Given the description of an element on the screen output the (x, y) to click on. 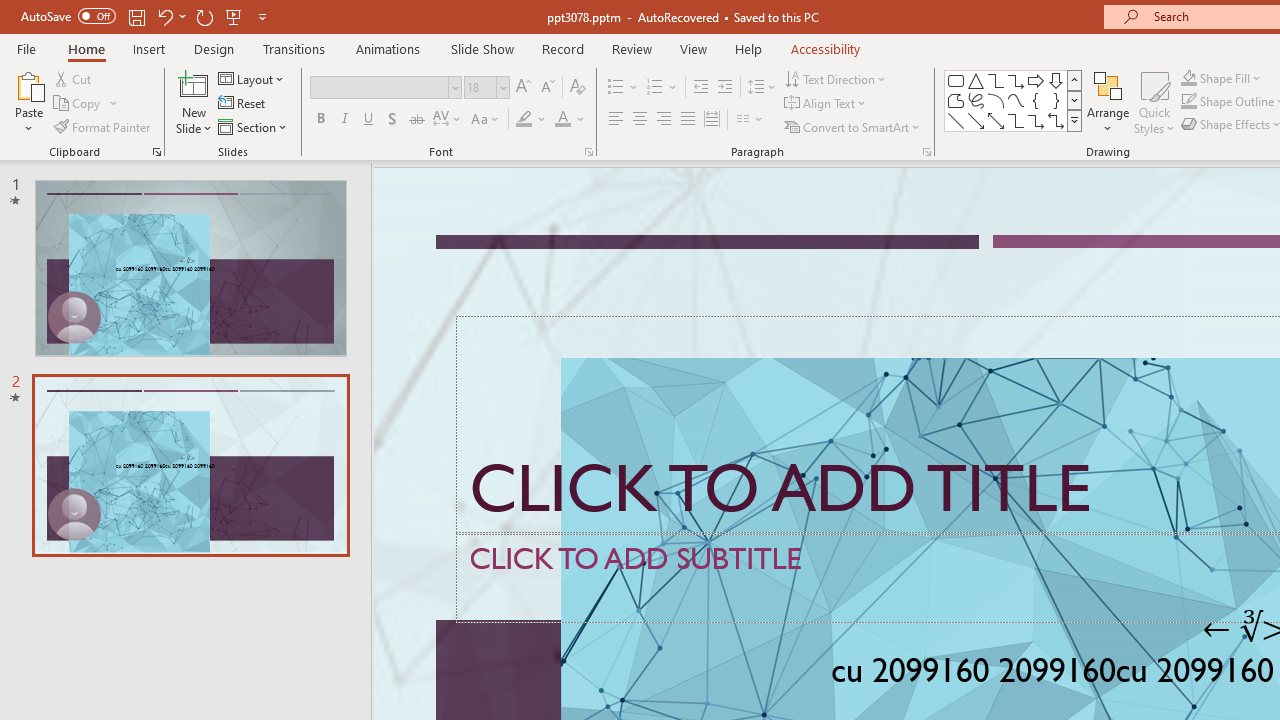
Shape Fill Dark Green, Accent 2 (1188, 78)
Line Arrow: Double (995, 120)
